Given the description of an element on the screen output the (x, y) to click on. 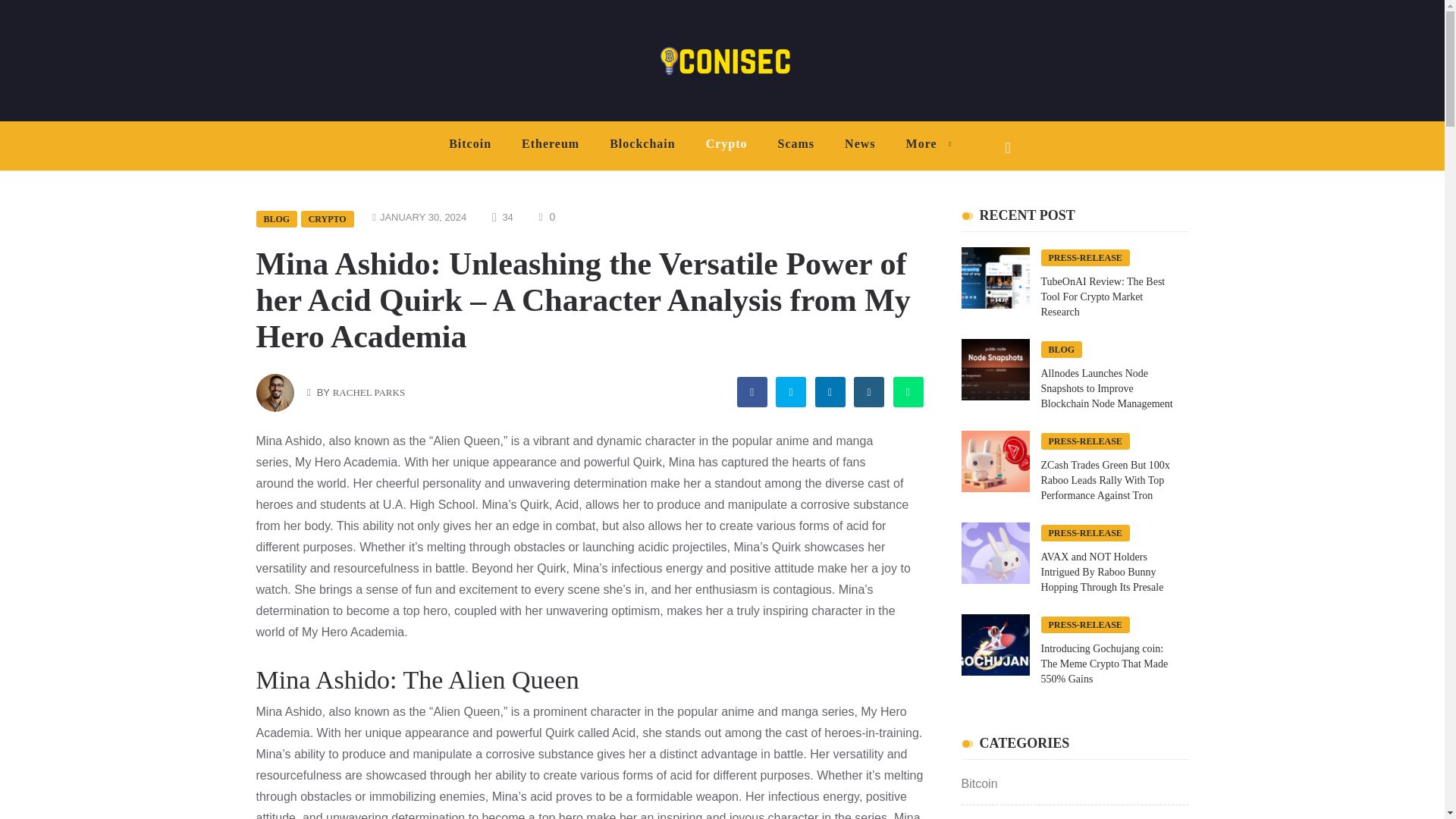
CRYPTO (327, 218)
Bitcoin (469, 144)
Ethereum (550, 144)
RACHEL PARKS (368, 392)
Scams (795, 144)
More (925, 144)
JANUARY 30, 2024 (422, 216)
Crypto (726, 144)
News (859, 144)
Blockchain (642, 144)
